Given the description of an element on the screen output the (x, y) to click on. 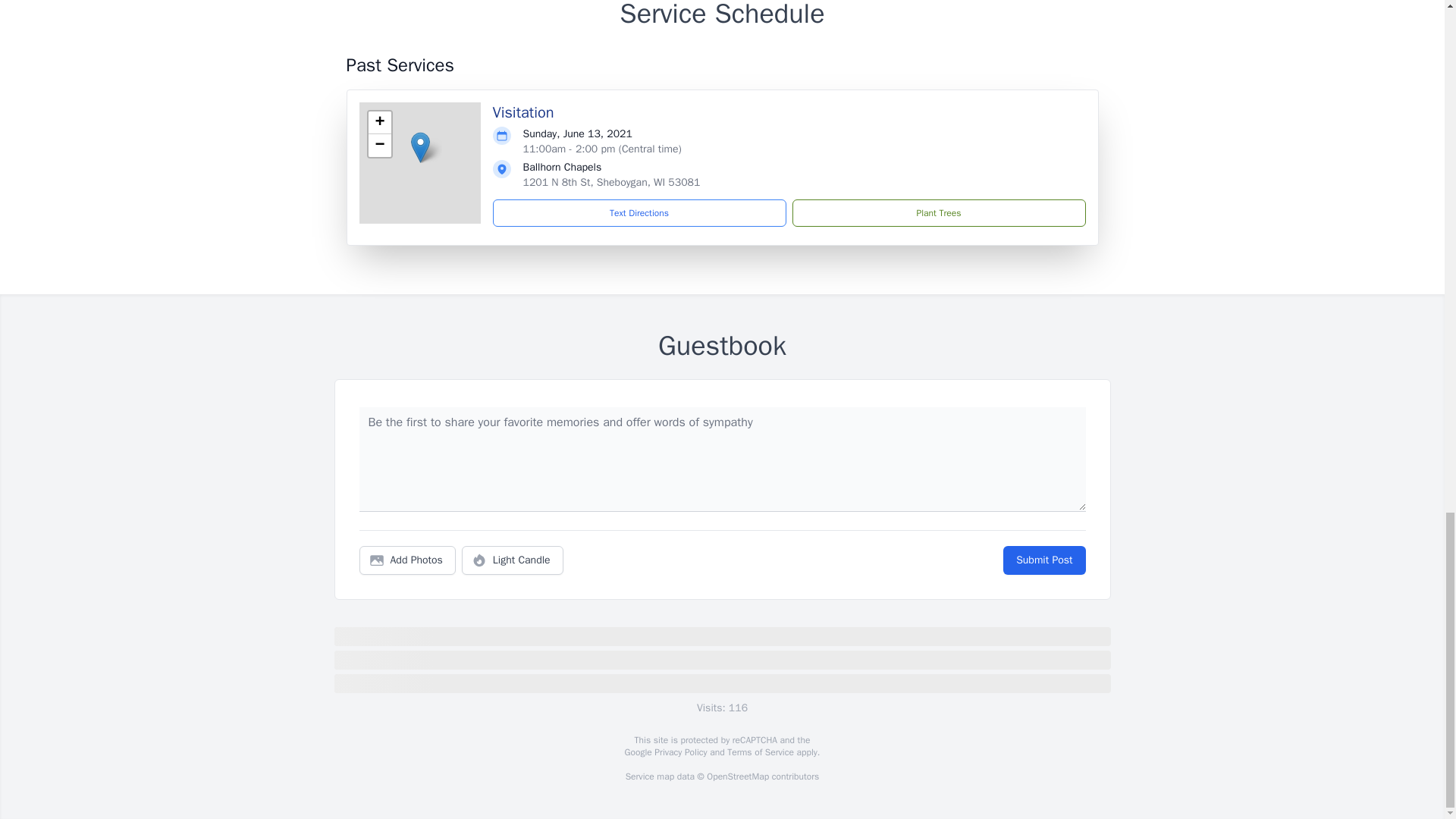
Plant Trees (938, 212)
Submit Post (1043, 560)
1201 N 8th St, Sheboygan, WI 53081 (611, 182)
Privacy Policy (679, 752)
Add Photos (407, 560)
Terms of Service (759, 752)
Text Directions (639, 212)
Light Candle (512, 560)
Zoom in (379, 122)
OpenStreetMap (737, 776)
Zoom out (379, 145)
